Given the description of an element on the screen output the (x, y) to click on. 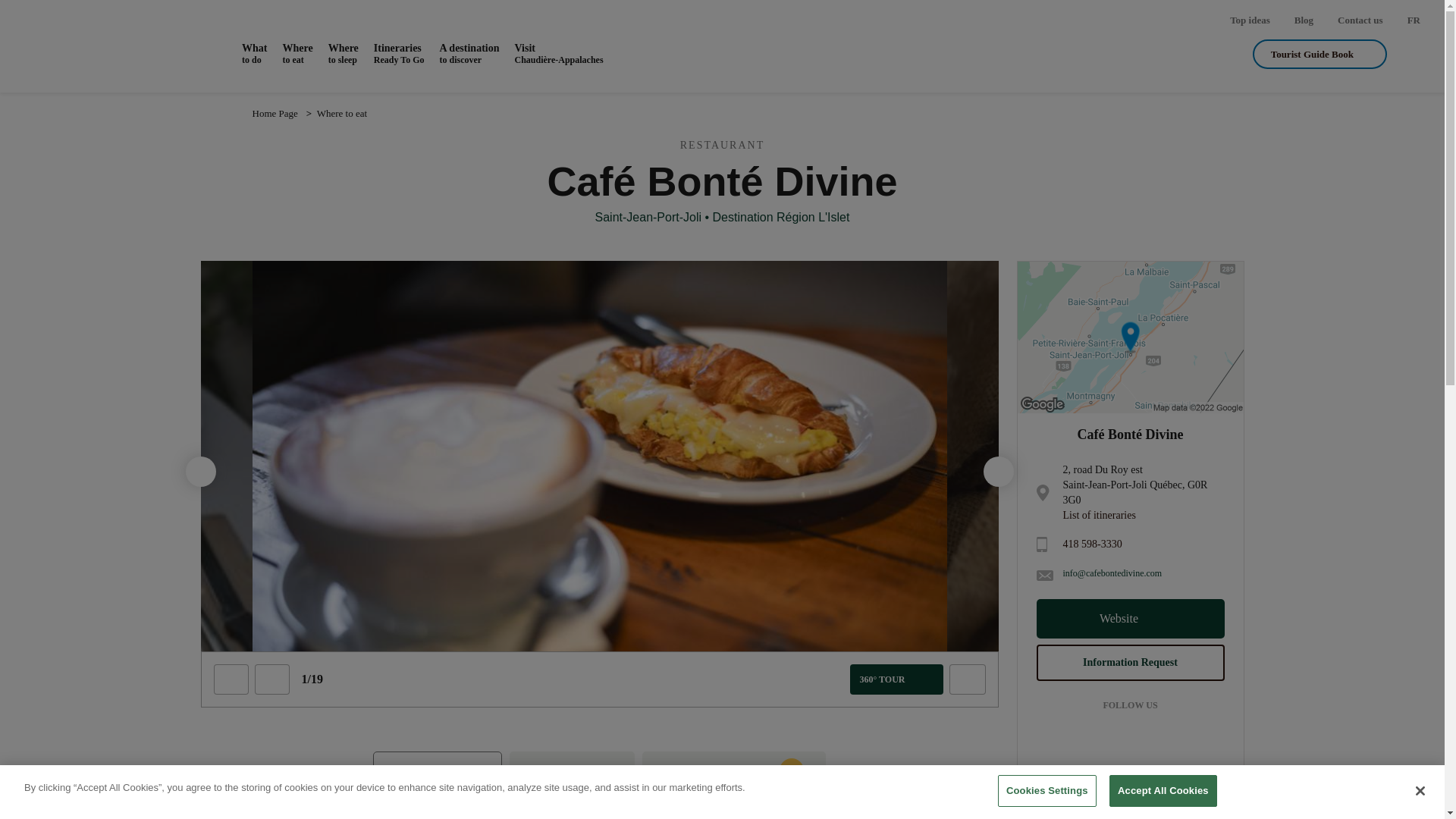
Contact us (469, 53)
Subscribe (1360, 19)
Blog (797, 689)
Top ideas (399, 53)
Home Page (1303, 19)
Tourist Guide Book (1249, 19)
Go to menu (274, 113)
FR (1319, 53)
